Given the description of an element on the screen output the (x, y) to click on. 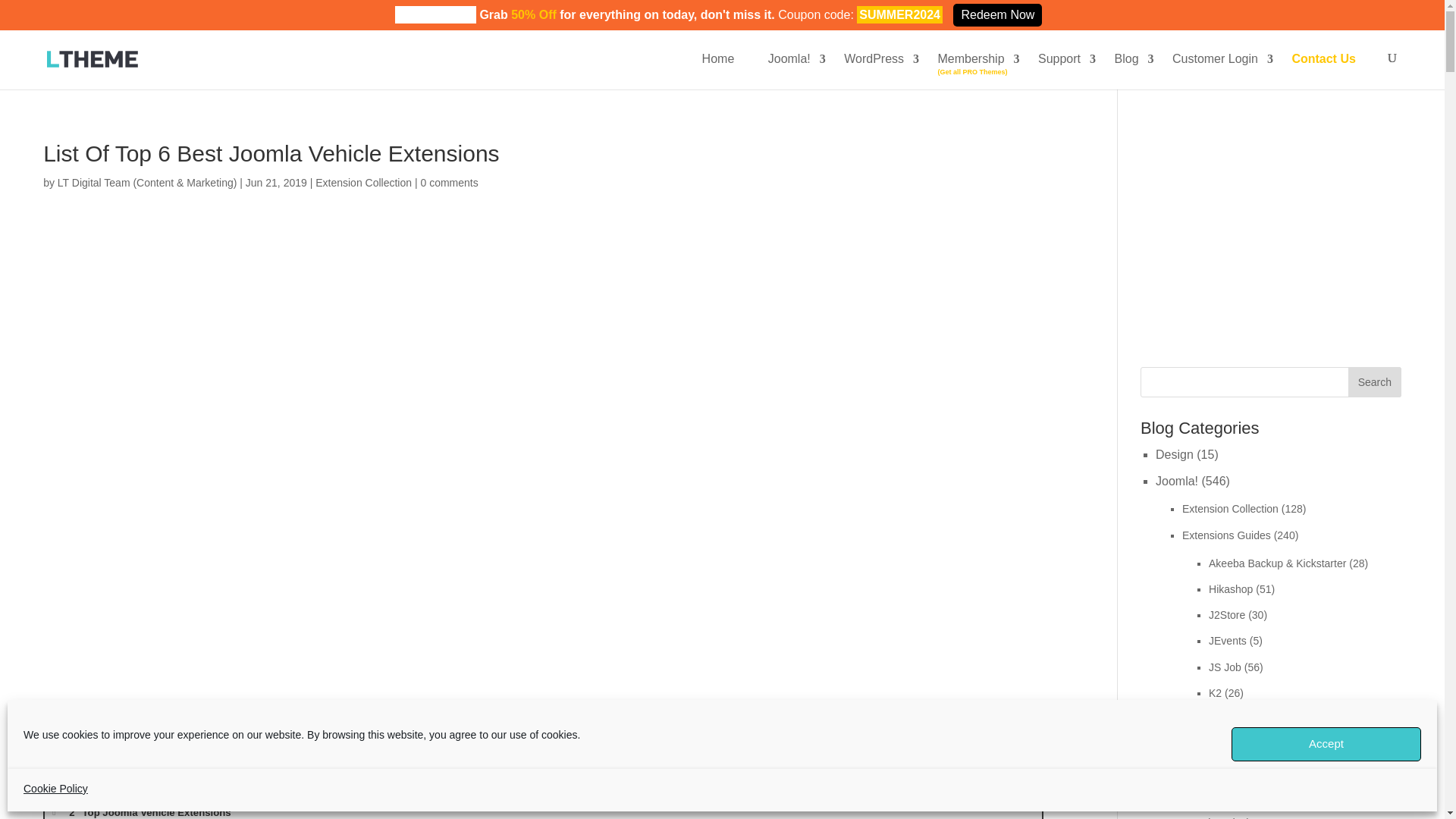
Support (1059, 58)
Cookie Policy (55, 788)
WordPress (873, 58)
Joomla! (788, 58)
Accept (1326, 744)
Home (718, 58)
Membership (971, 58)
Search (1374, 381)
